Given the description of an element on the screen output the (x, y) to click on. 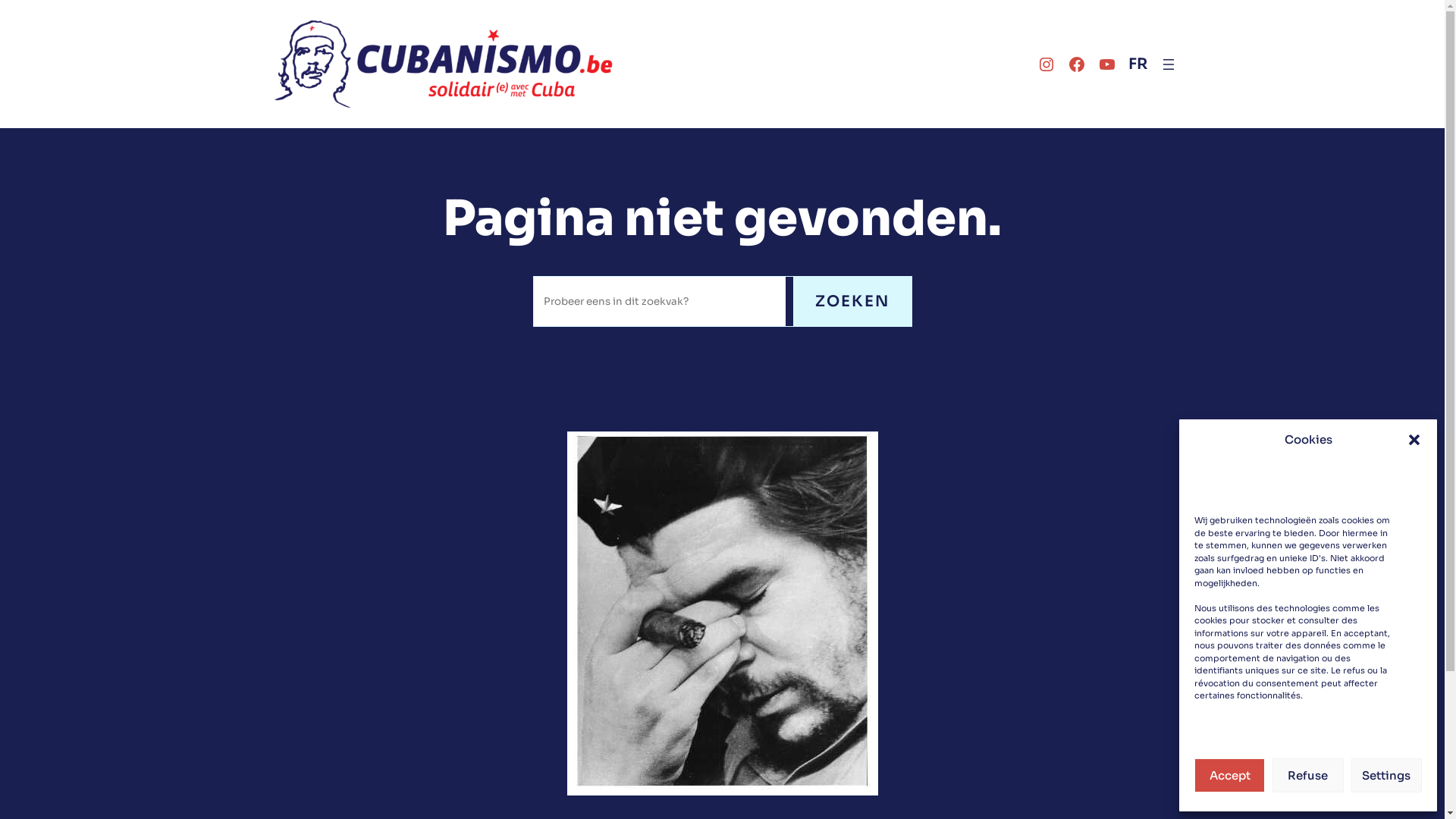
Facebook Element type: text (1076, 64)
Settings Element type: text (1386, 775)
Instagram Element type: text (1046, 64)
Refuse Element type: text (1307, 775)
YouTube Element type: text (1107, 64)
FR Element type: text (1137, 63)
Accept Element type: text (1229, 775)
ZOEKEN Element type: text (851, 301)
